Given the description of an element on the screen output the (x, y) to click on. 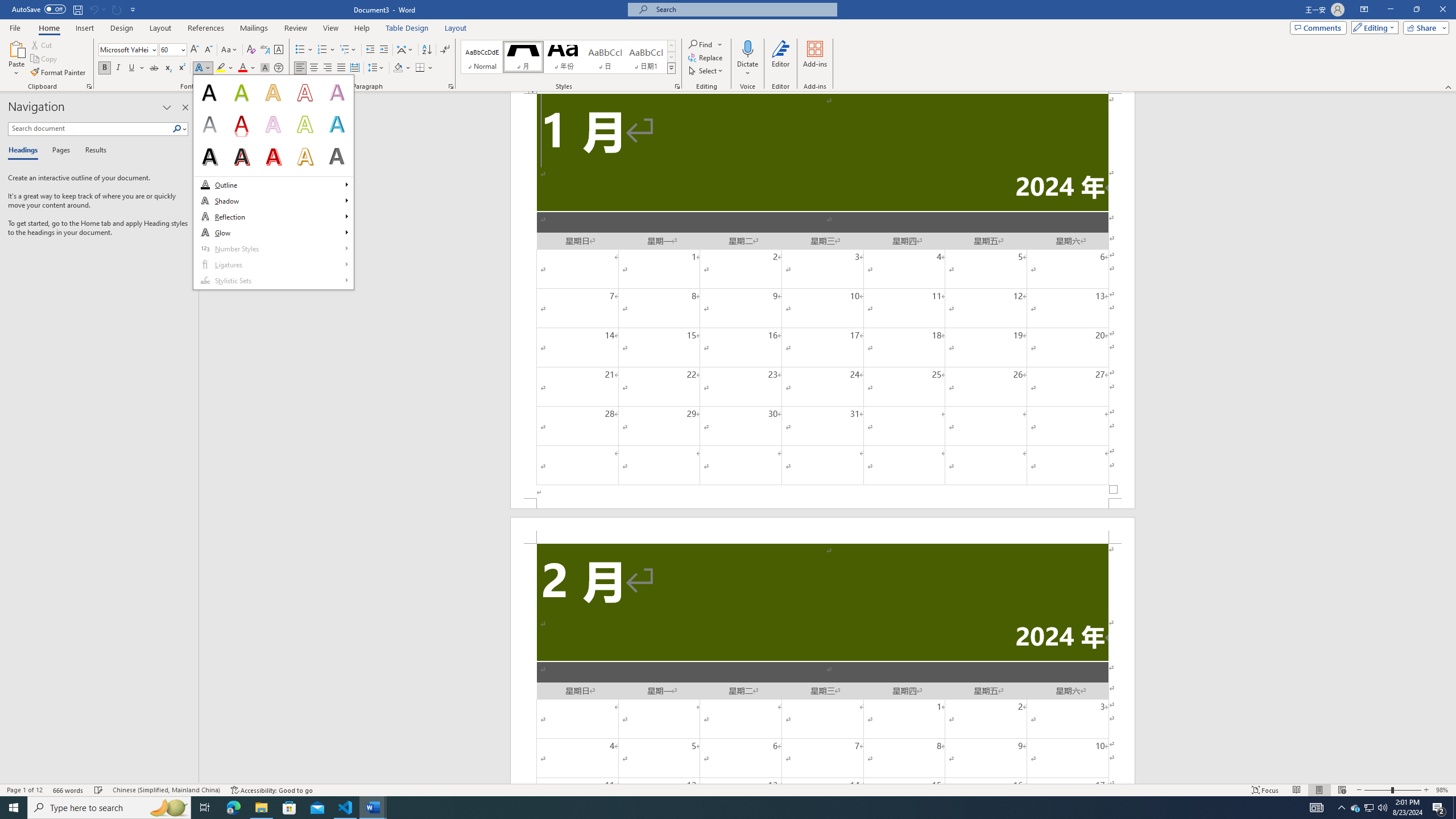
&Text Effects and Typography (272, 181)
Page 1 content (822, 295)
